Given the description of an element on the screen output the (x, y) to click on. 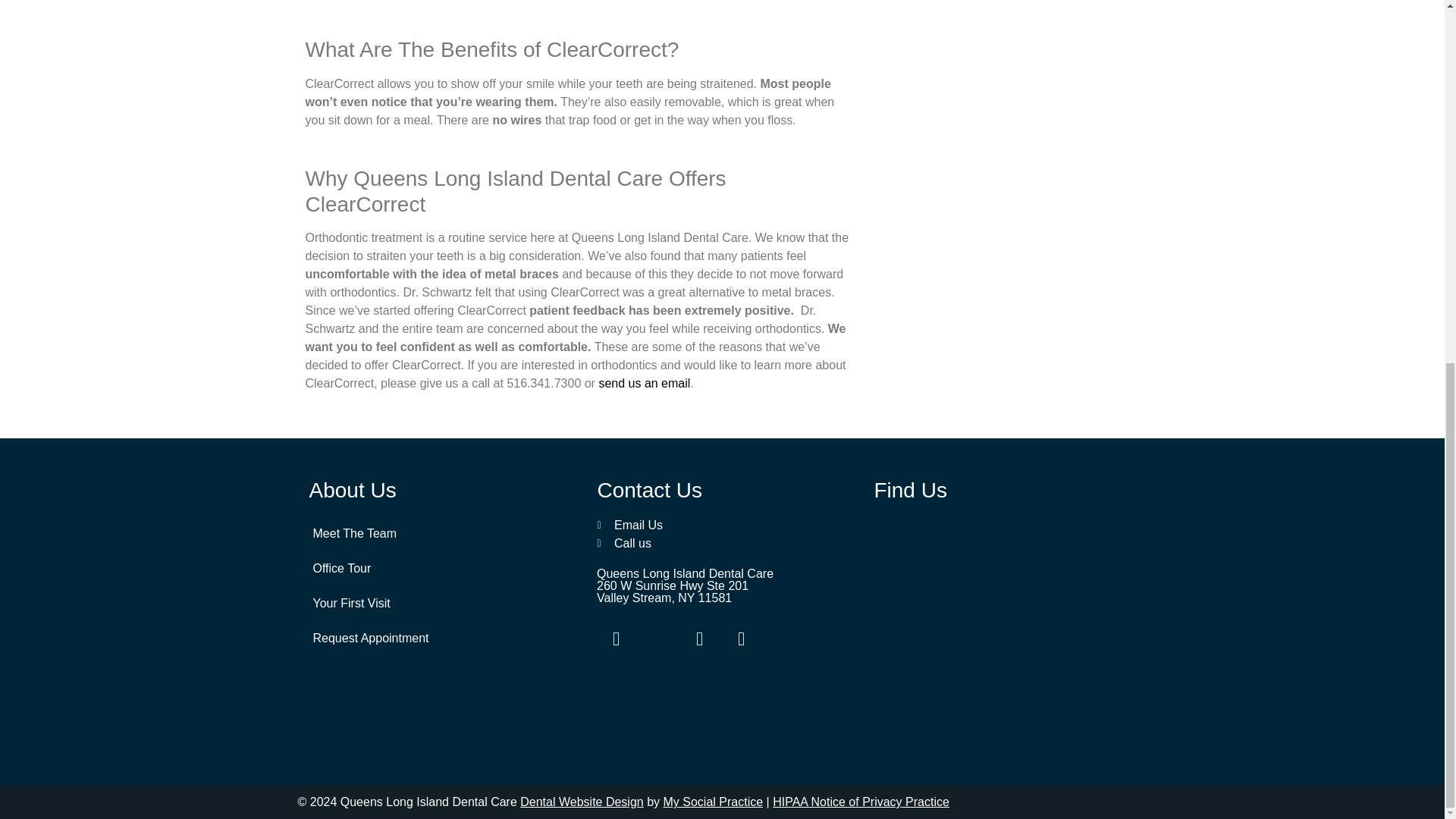
Queens Long Island Dental Care (1010, 629)
